Given the description of an element on the screen output the (x, y) to click on. 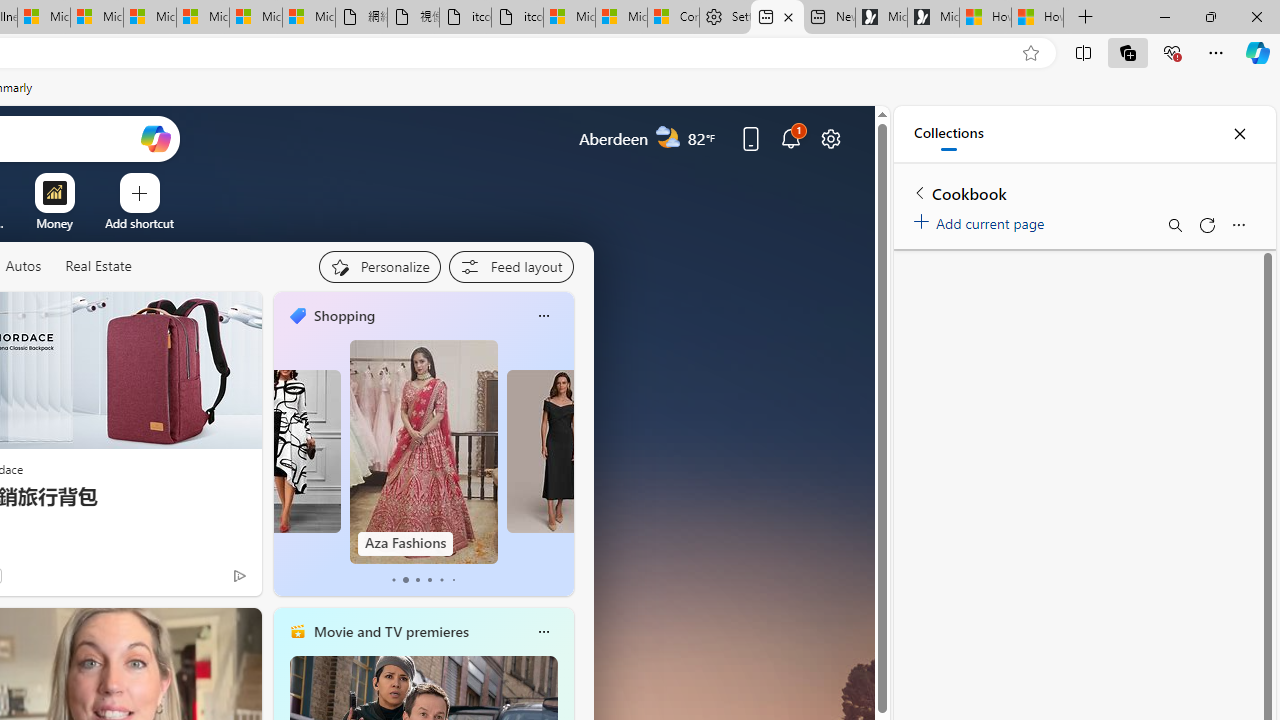
tab-3 (429, 579)
Autos (22, 265)
Add current page (982, 219)
Back to list of collections (920, 192)
itconcepthk.com/projector_solutions.mp4 (516, 17)
Class: icon-img (543, 632)
